Given the description of an element on the screen output the (x, y) to click on. 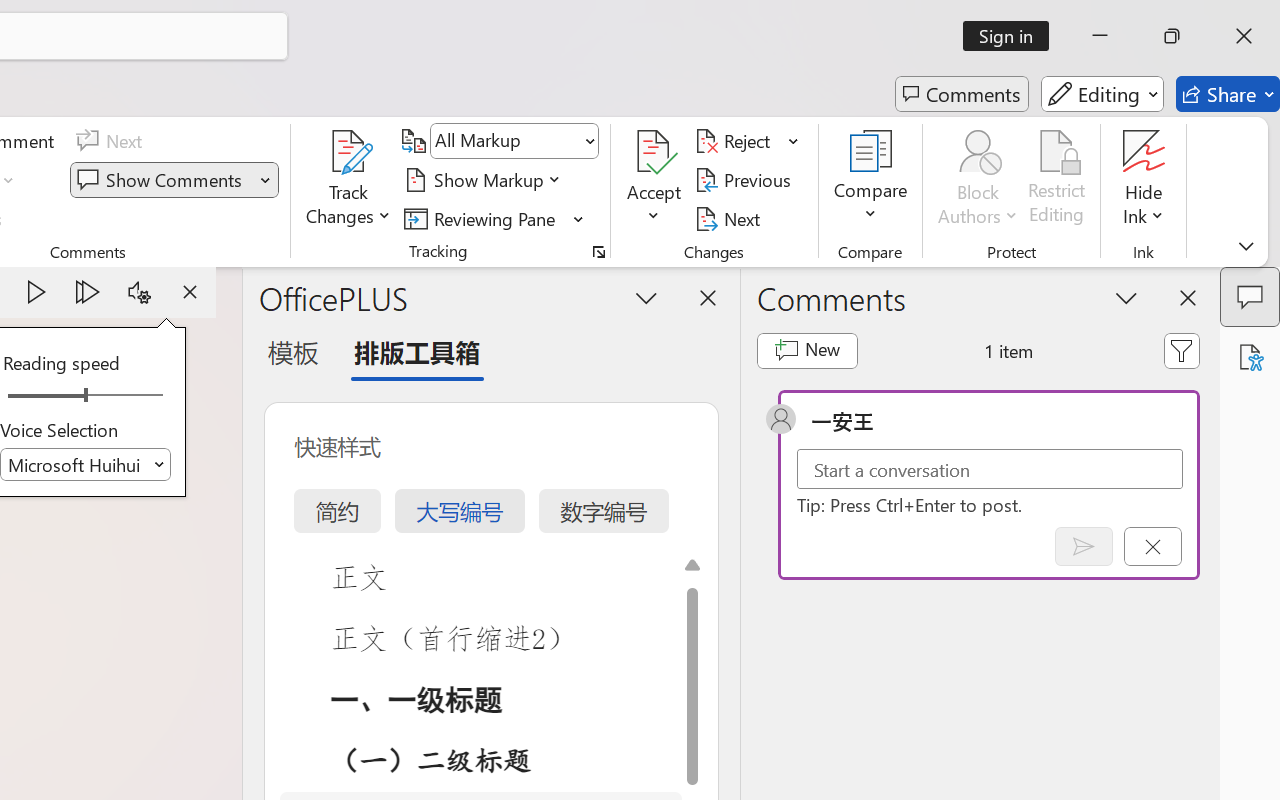
Next Paragraph (87, 292)
Display for Review (514, 141)
Sign in (1012, 35)
Play (36, 292)
Previous (745, 179)
Accept (653, 179)
Settings (139, 292)
Reviewing Pane (494, 218)
